Given the description of an element on the screen output the (x, y) to click on. 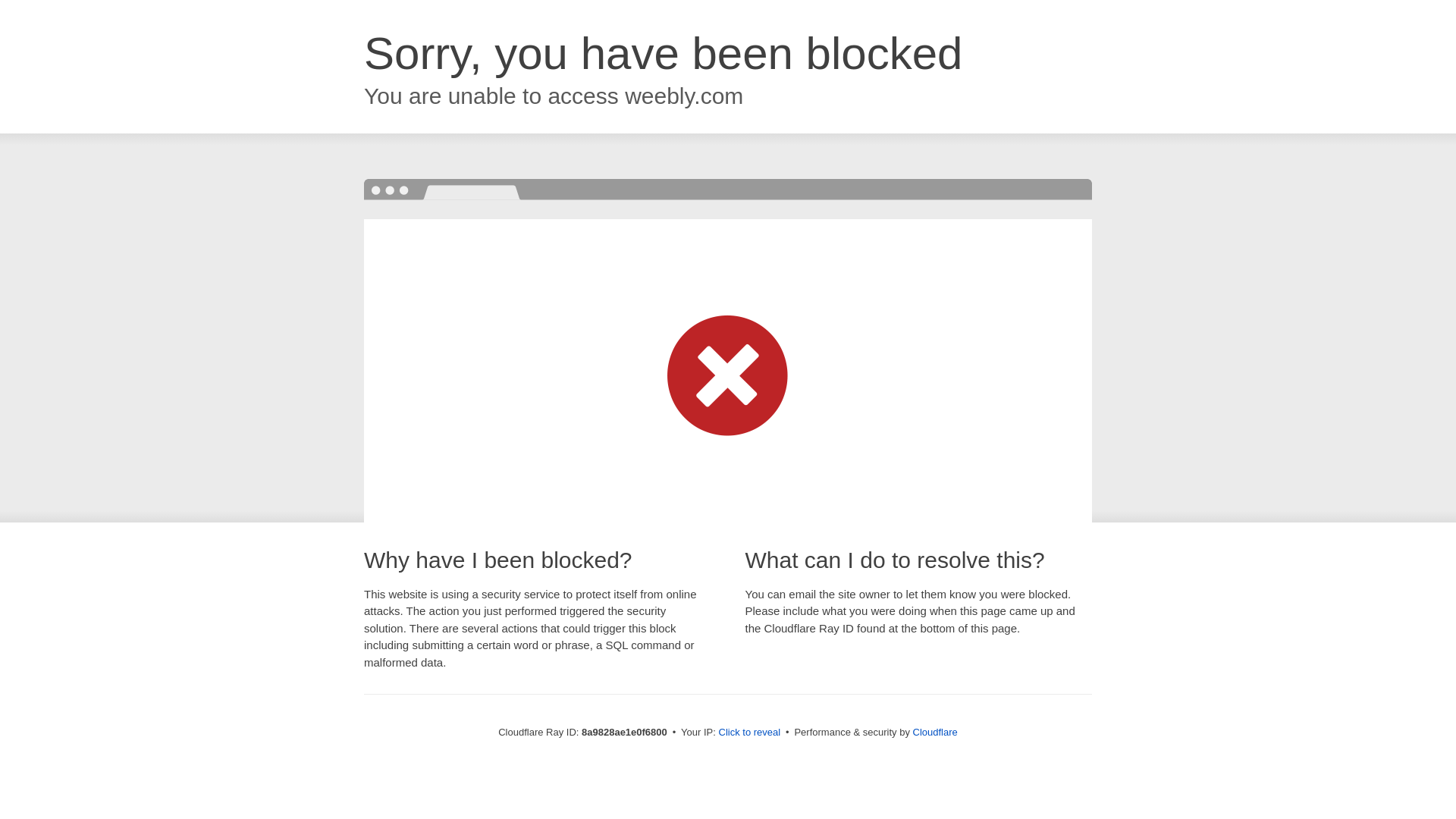
Click to reveal (749, 732)
Cloudflare (935, 731)
